Given the description of an element on the screen output the (x, y) to click on. 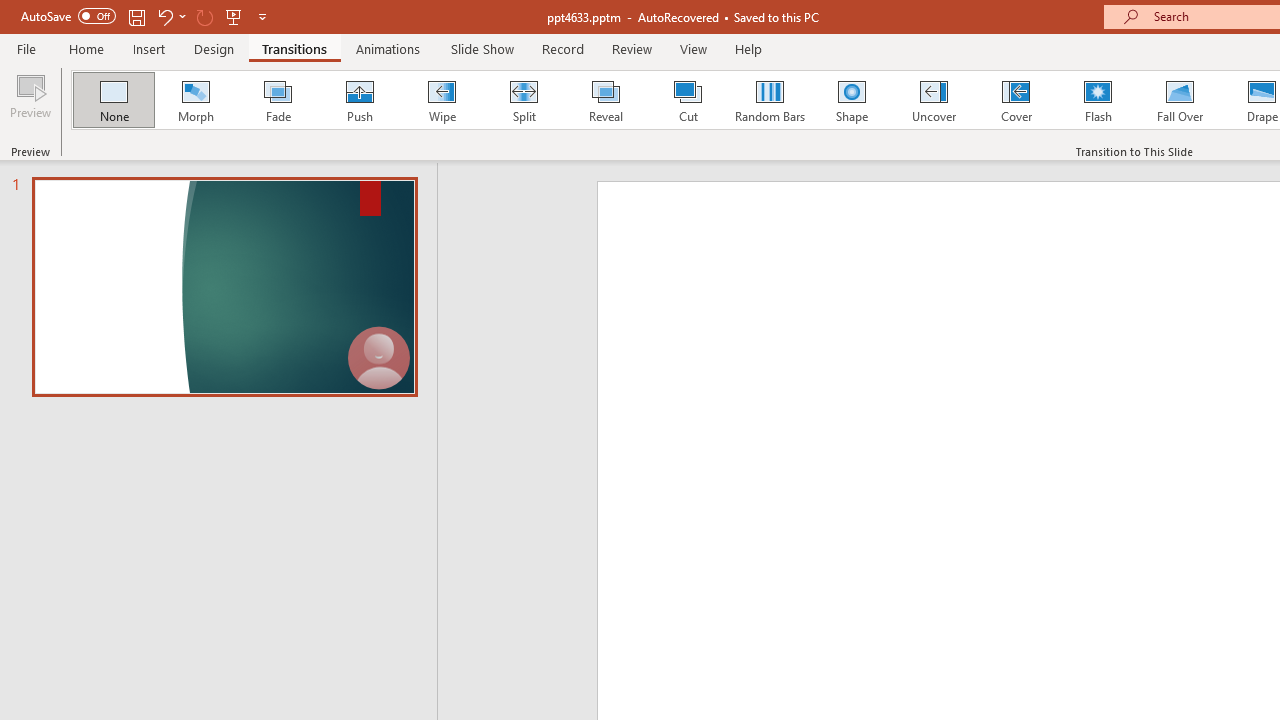
Uncover (934, 100)
Reveal (605, 100)
